Given the description of an element on the screen output the (x, y) to click on. 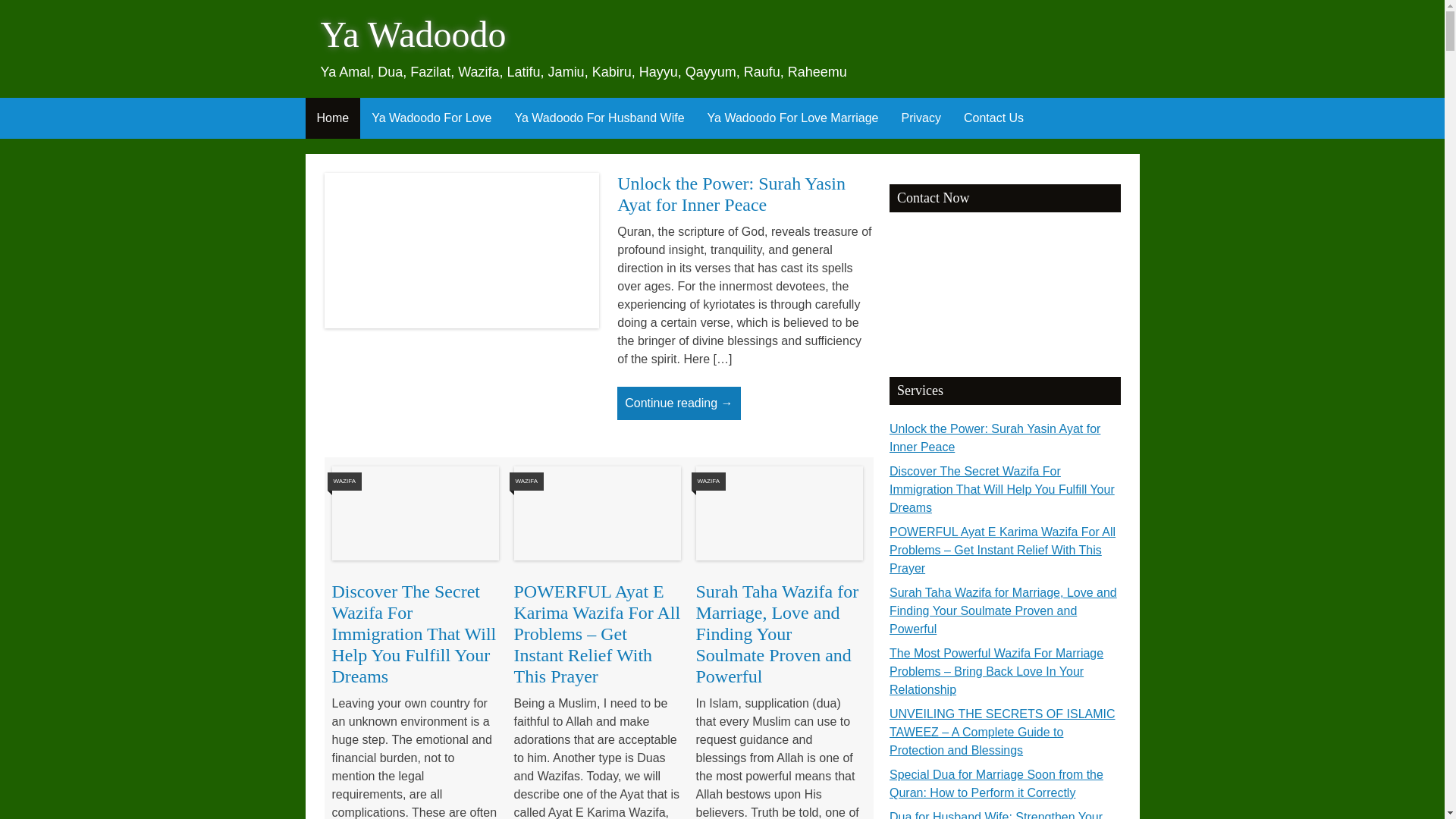
Ya Wadoodo (412, 34)
Contact Us (993, 117)
Unlock the Power: Surah Yasin Ayat for Inner Peace (731, 193)
WAZIFA (344, 480)
Skip to content (315, 108)
WAZIFA (526, 480)
Privacy (920, 117)
Home (331, 117)
